Given the description of an element on the screen output the (x, y) to click on. 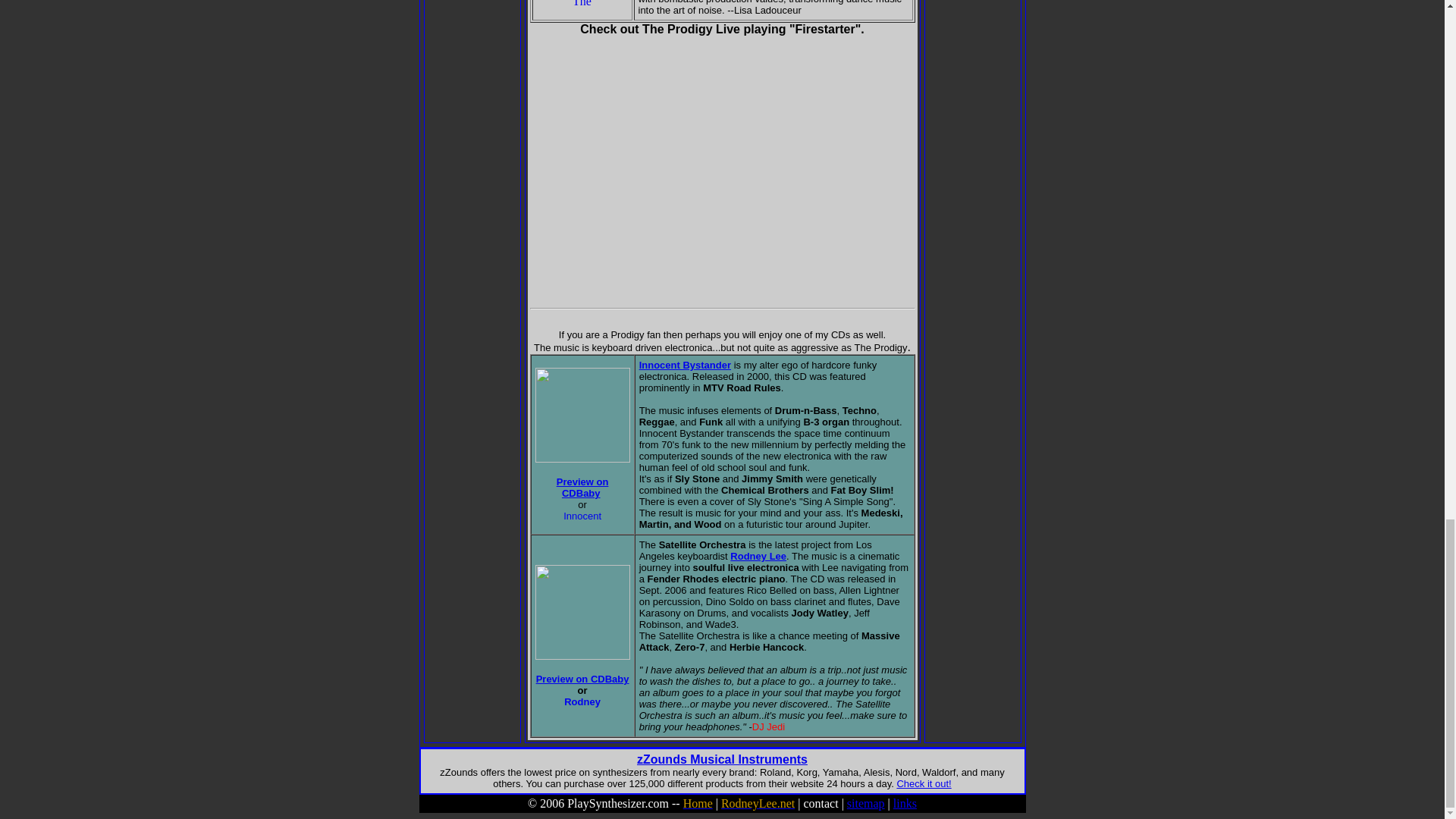
Rodney Lee (758, 555)
Check it out! (923, 783)
Innocent Bystander (684, 365)
zZounds Musical Instruments (722, 758)
RodneyLee.net (757, 802)
Preview on CDBaby (581, 678)
Preview on CDBaby (582, 486)
sitemap (866, 802)
links (905, 802)
Home (697, 802)
